Given the description of an element on the screen output the (x, y) to click on. 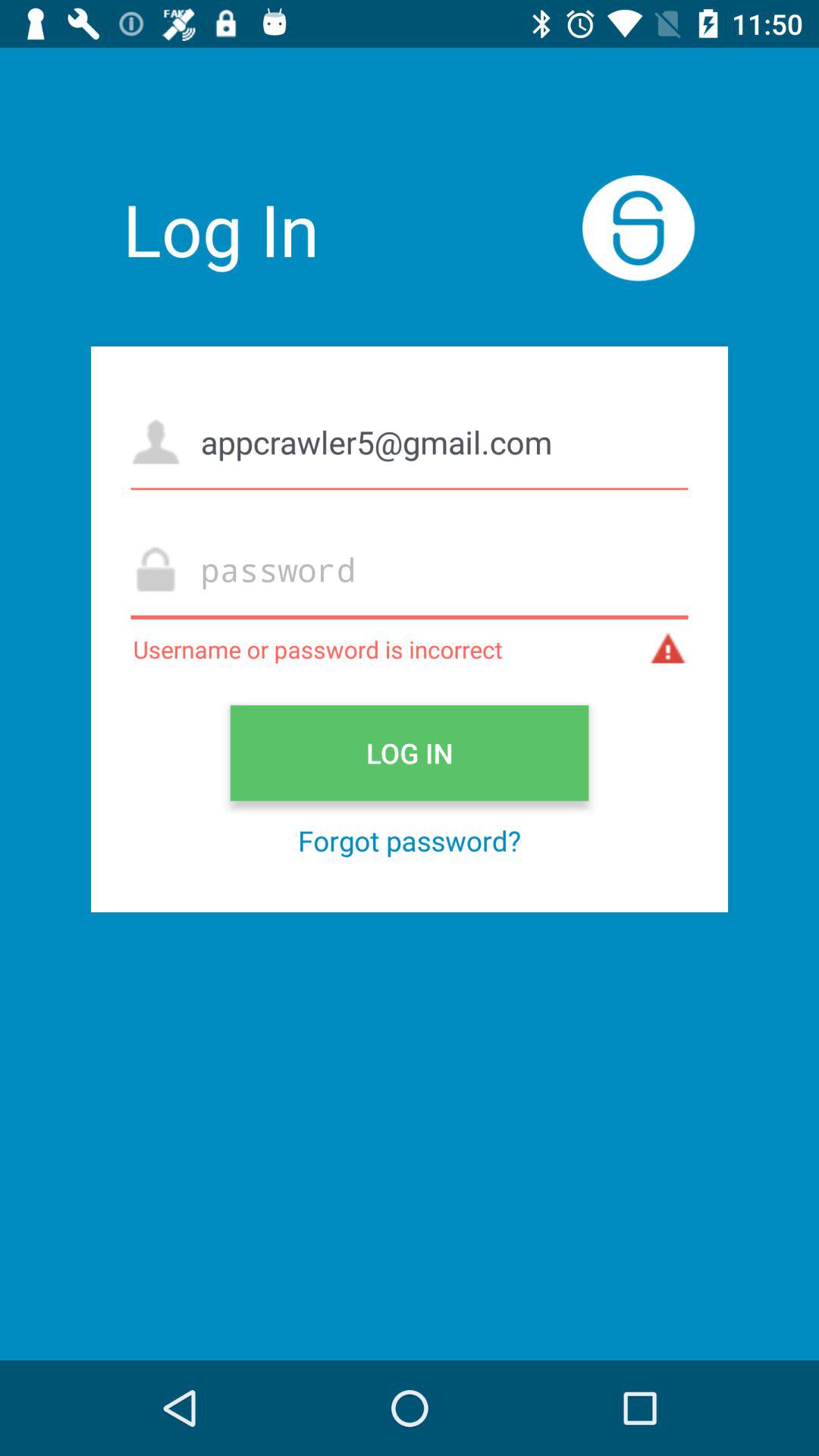
select appcrawler5@gmail.com at the top (409, 441)
